Given the description of an element on the screen output the (x, y) to click on. 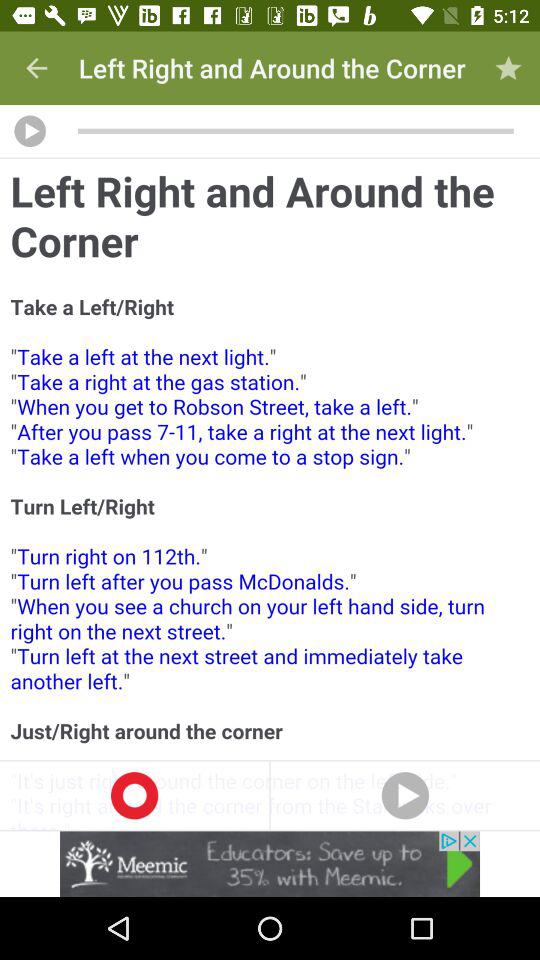
stop (134, 795)
